Given the description of an element on the screen output the (x, y) to click on. 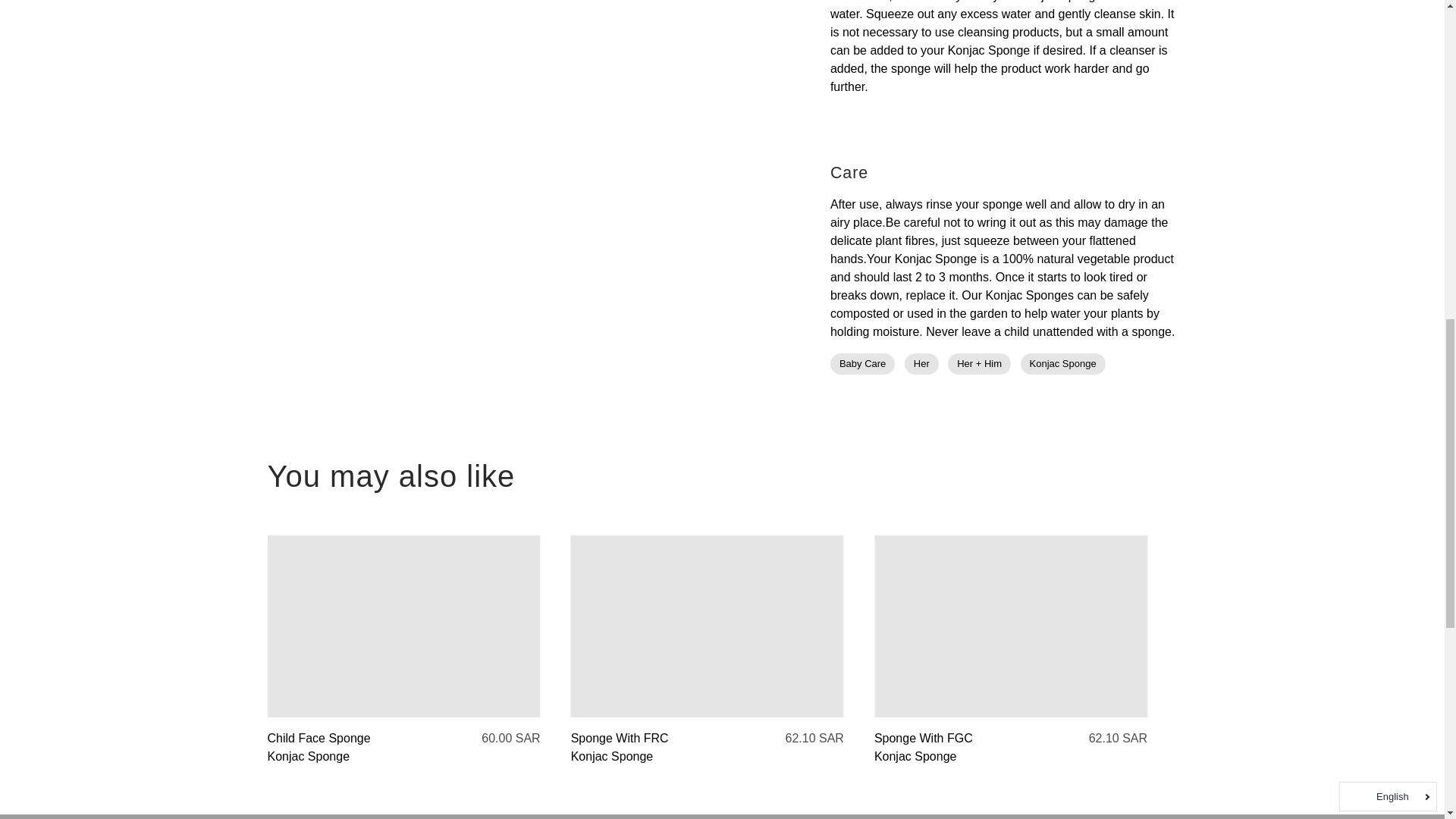
Baby Care (862, 363)
Her (921, 363)
Konjac Sponge (1062, 363)
